Given the description of an element on the screen output the (x, y) to click on. 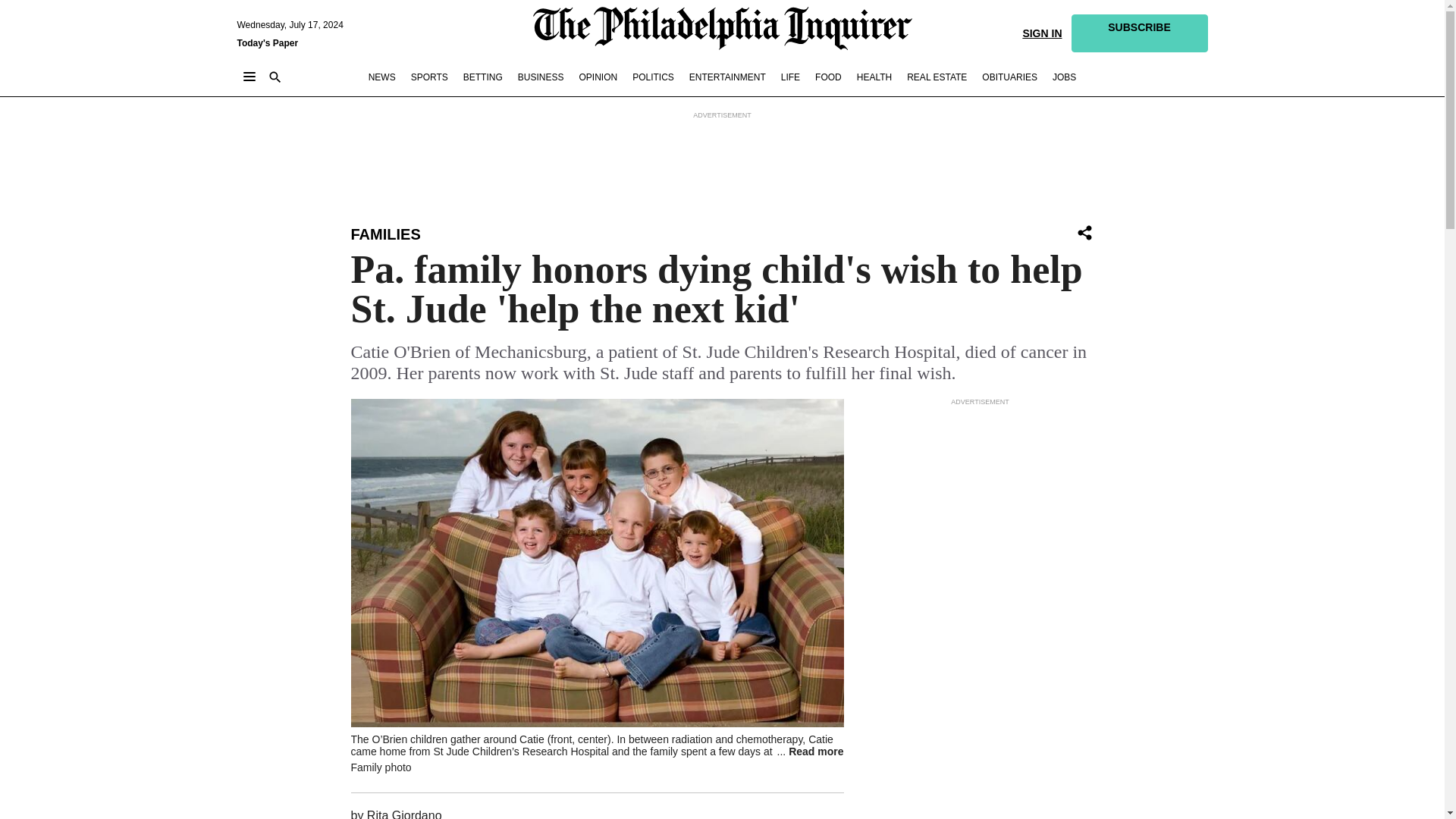
SPORTS (429, 77)
BUSINESS (541, 77)
JOBS (1063, 77)
POLITICS (652, 77)
Rita Giordano (404, 814)
Today's Paper (266, 42)
SIGN IN (1041, 32)
OBITUARIES (1008, 77)
REAL ESTATE (936, 77)
NEWS (382, 77)
Share Icon (1084, 233)
LIFE (789, 77)
Share Icon (1084, 232)
ENTERTAINMENT (726, 77)
OPINION (597, 77)
